Given the description of an element on the screen output the (x, y) to click on. 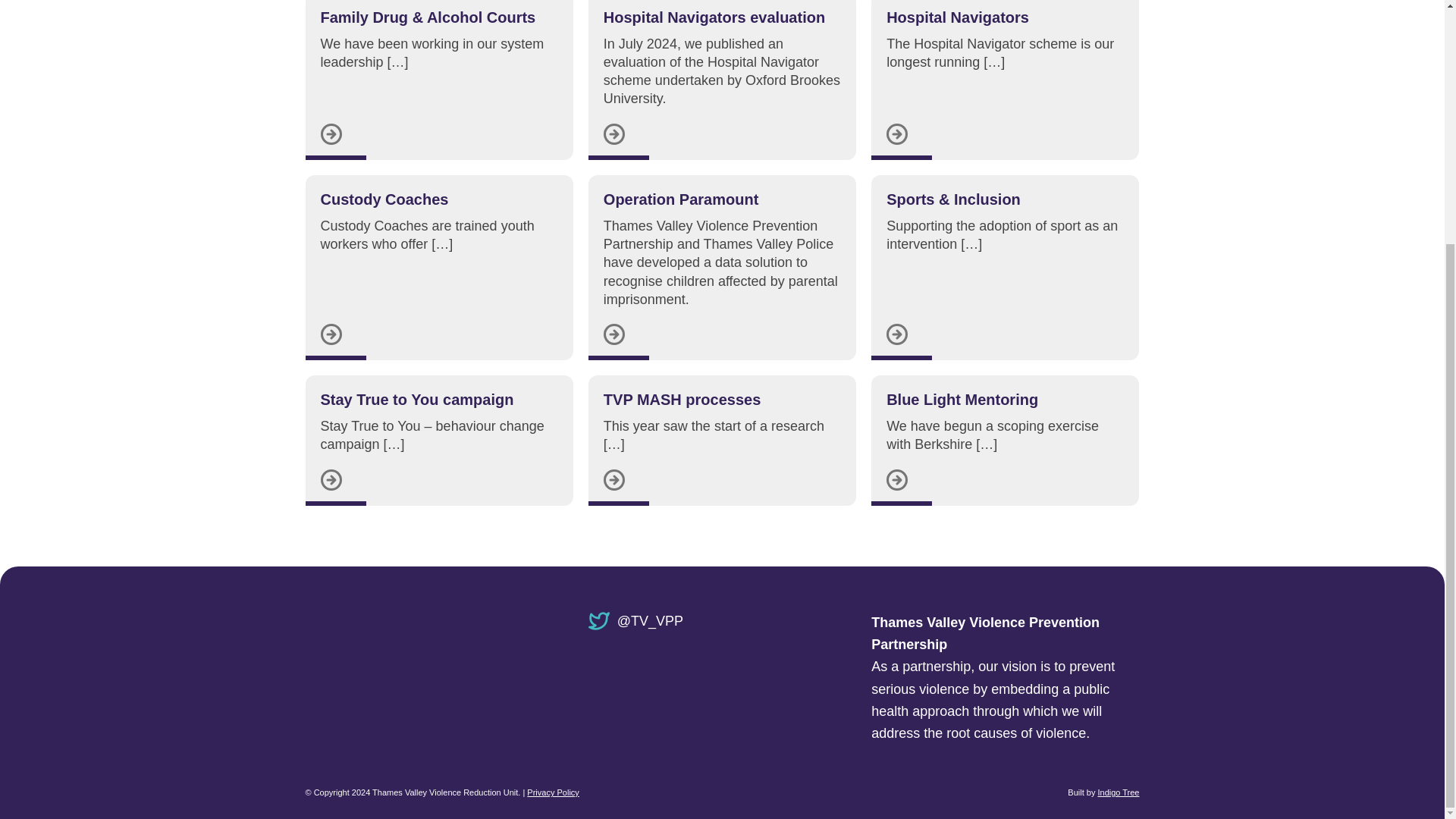
Custody Coaches (384, 199)
Hospital Navigators evaluation (714, 16)
Blue Light Mentoring (962, 399)
Operation Paramount (681, 199)
Stay True to You campaign (416, 399)
TVP MASH processes (682, 399)
Hospital Navigators (957, 16)
